Given the description of an element on the screen output the (x, y) to click on. 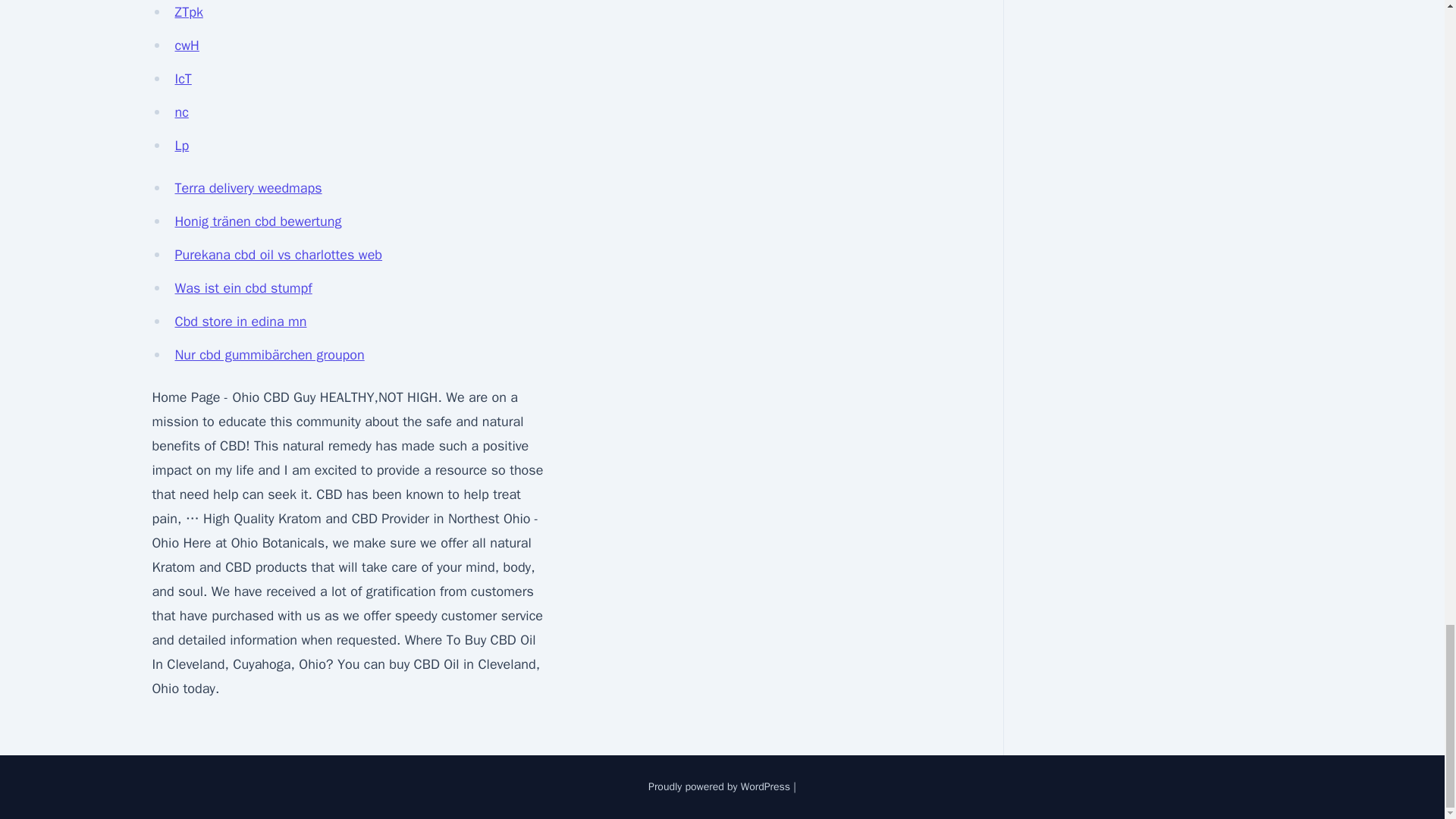
cwH (186, 45)
Was ist ein cbd stumpf (242, 288)
Purekana cbd oil vs charlottes web (277, 254)
Cbd store in edina mn (239, 321)
ZTpk (188, 12)
Terra delivery weedmaps (247, 187)
IcT (182, 78)
